Given the description of an element on the screen output the (x, y) to click on. 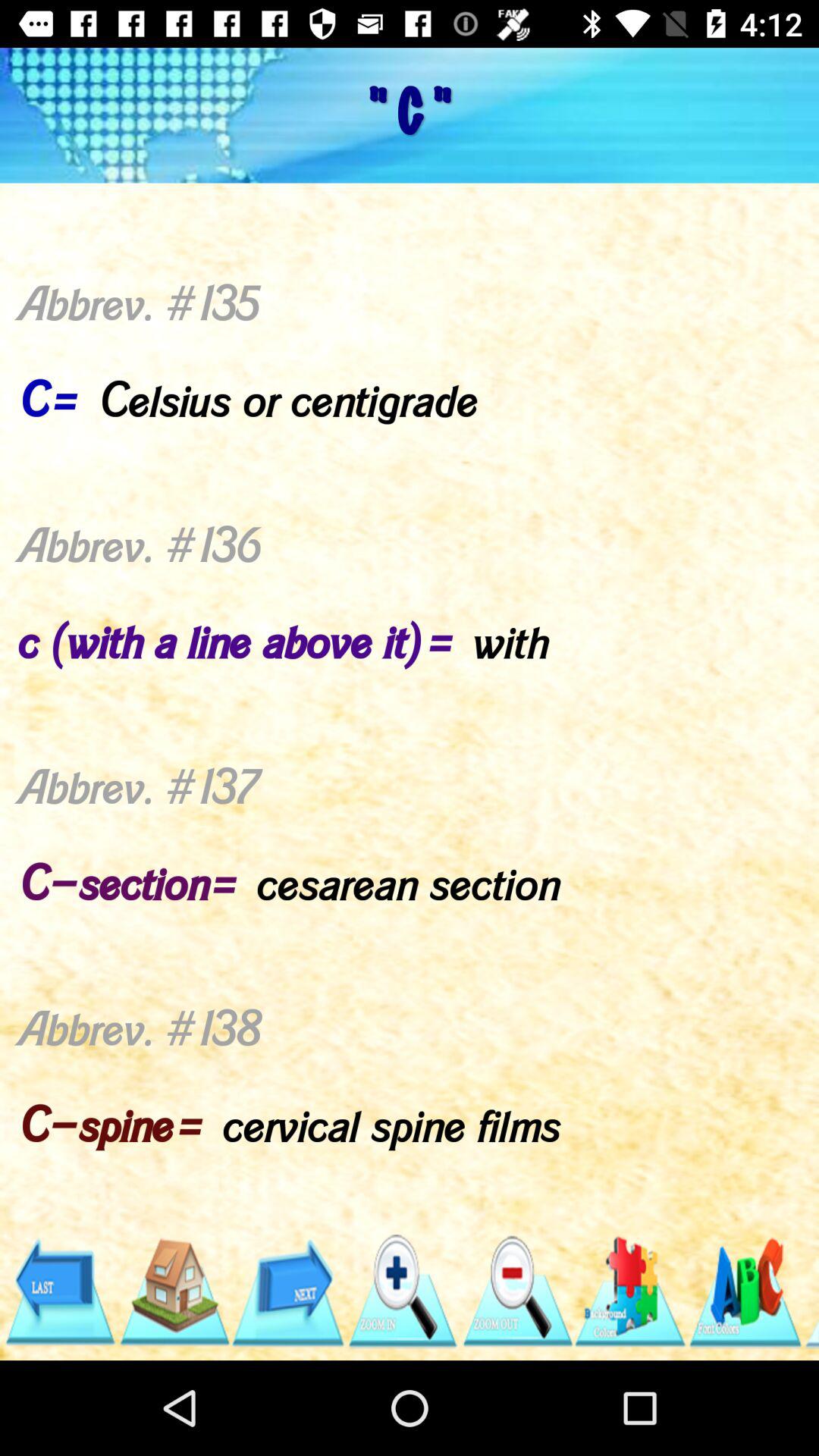
tap icon below abbrev 	135	 	c	 item (745, 1291)
